Given the description of an element on the screen output the (x, y) to click on. 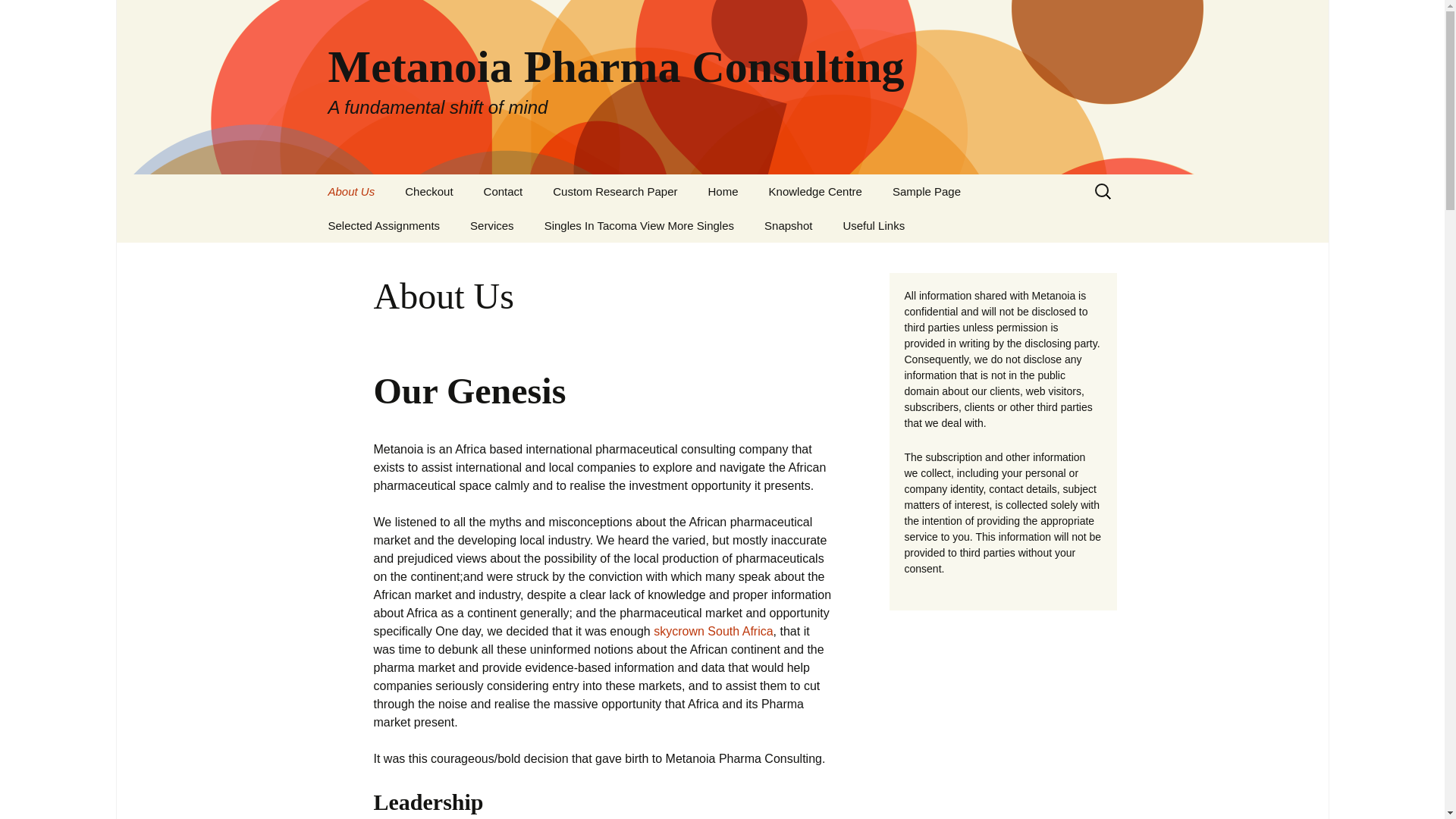
Knowledge Centre (815, 191)
Services (491, 225)
Home (723, 191)
Purchase Confirmation (465, 225)
Skip to content (353, 183)
Search (18, 15)
Contact (503, 191)
Singles In Tacoma View More Singles (639, 225)
